Given the description of an element on the screen output the (x, y) to click on. 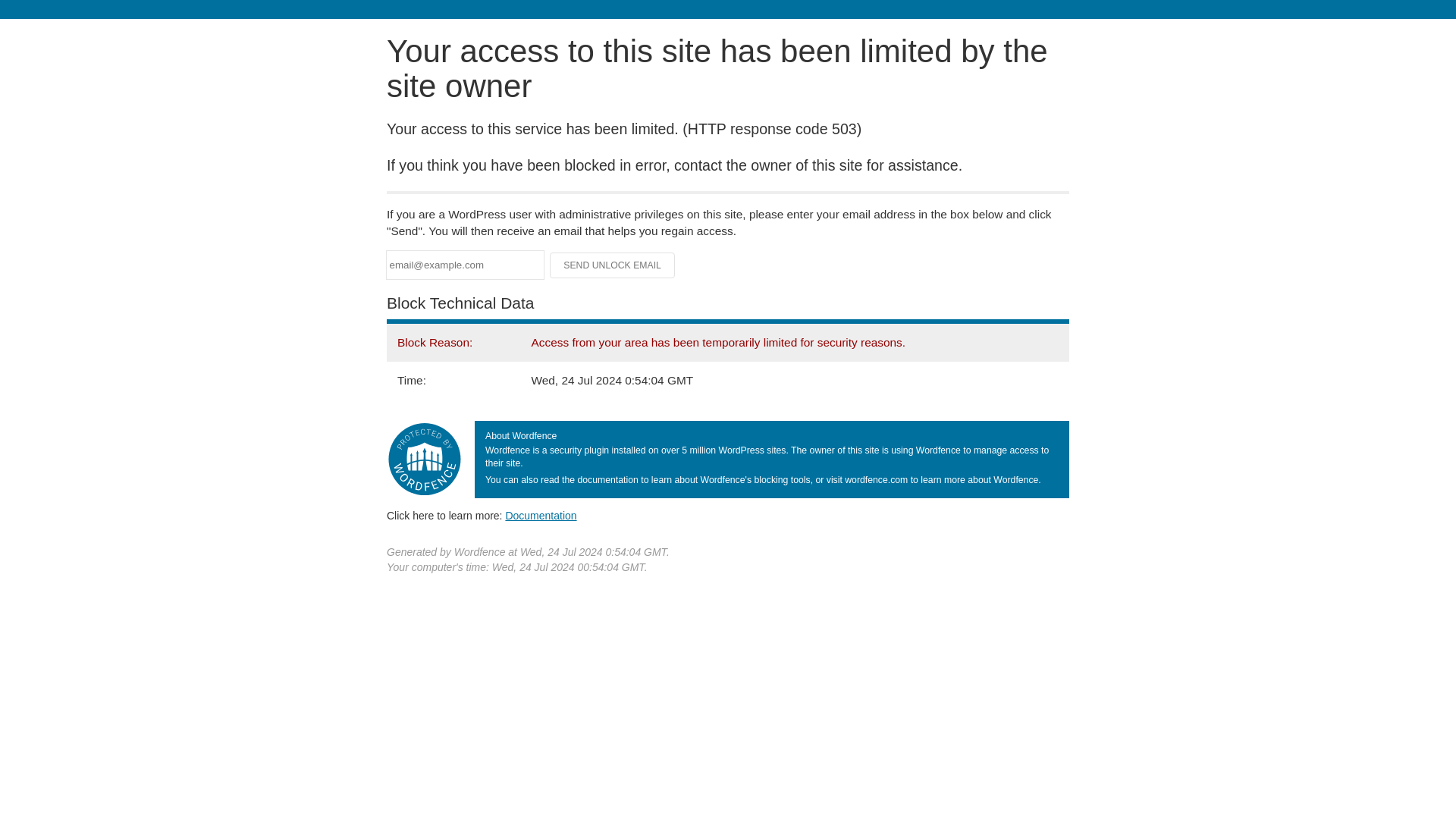
Documentation (540, 515)
Send Unlock Email (612, 265)
Send Unlock Email (612, 265)
